Given the description of an element on the screen output the (x, y) to click on. 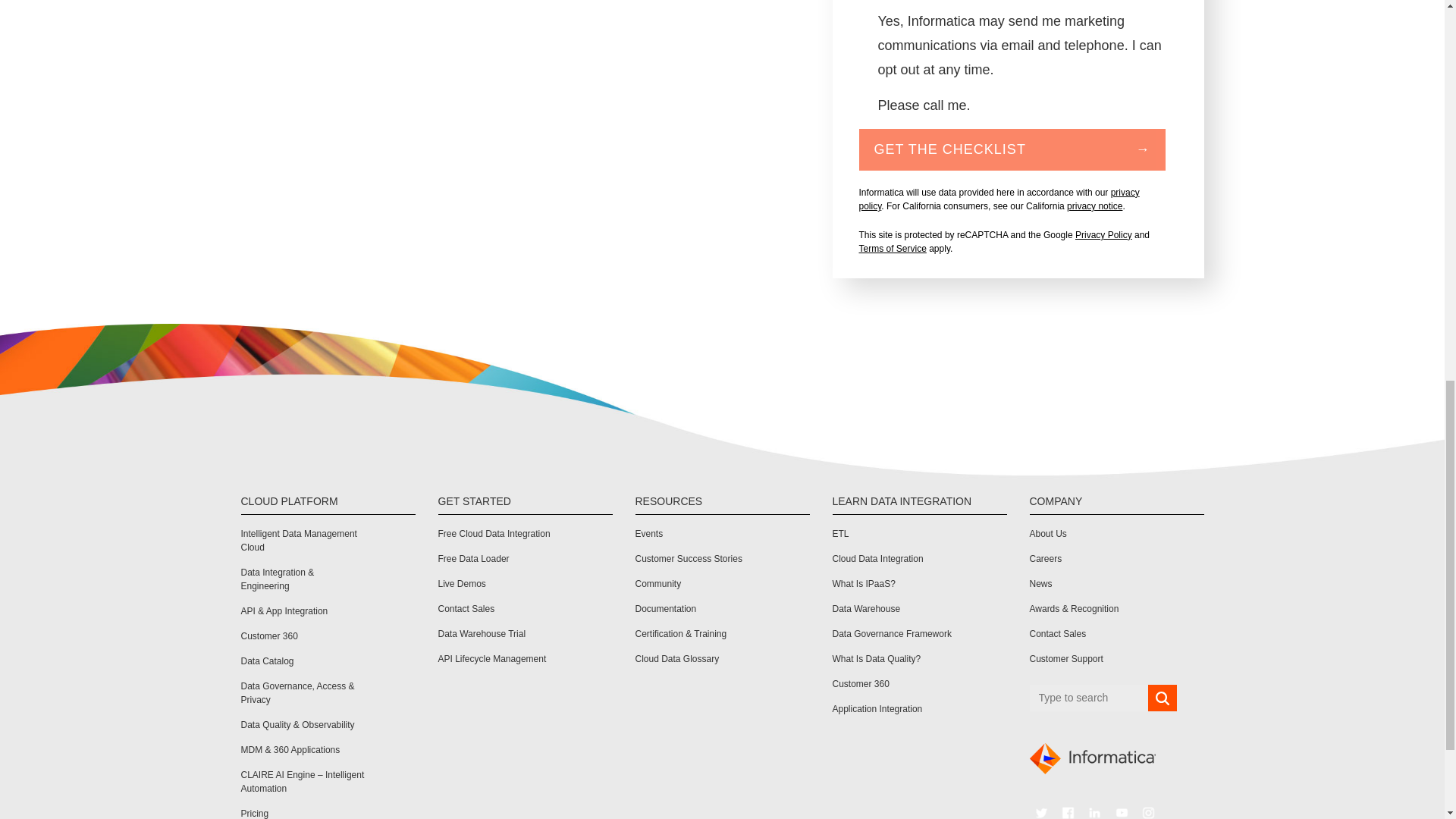
Search (1162, 698)
privacy notice (1094, 205)
Privacy Policy (1103, 235)
Terms of Service (892, 248)
privacy policy (998, 199)
Insert a query. Press enter to send (1088, 697)
